Given the description of an element on the screen output the (x, y) to click on. 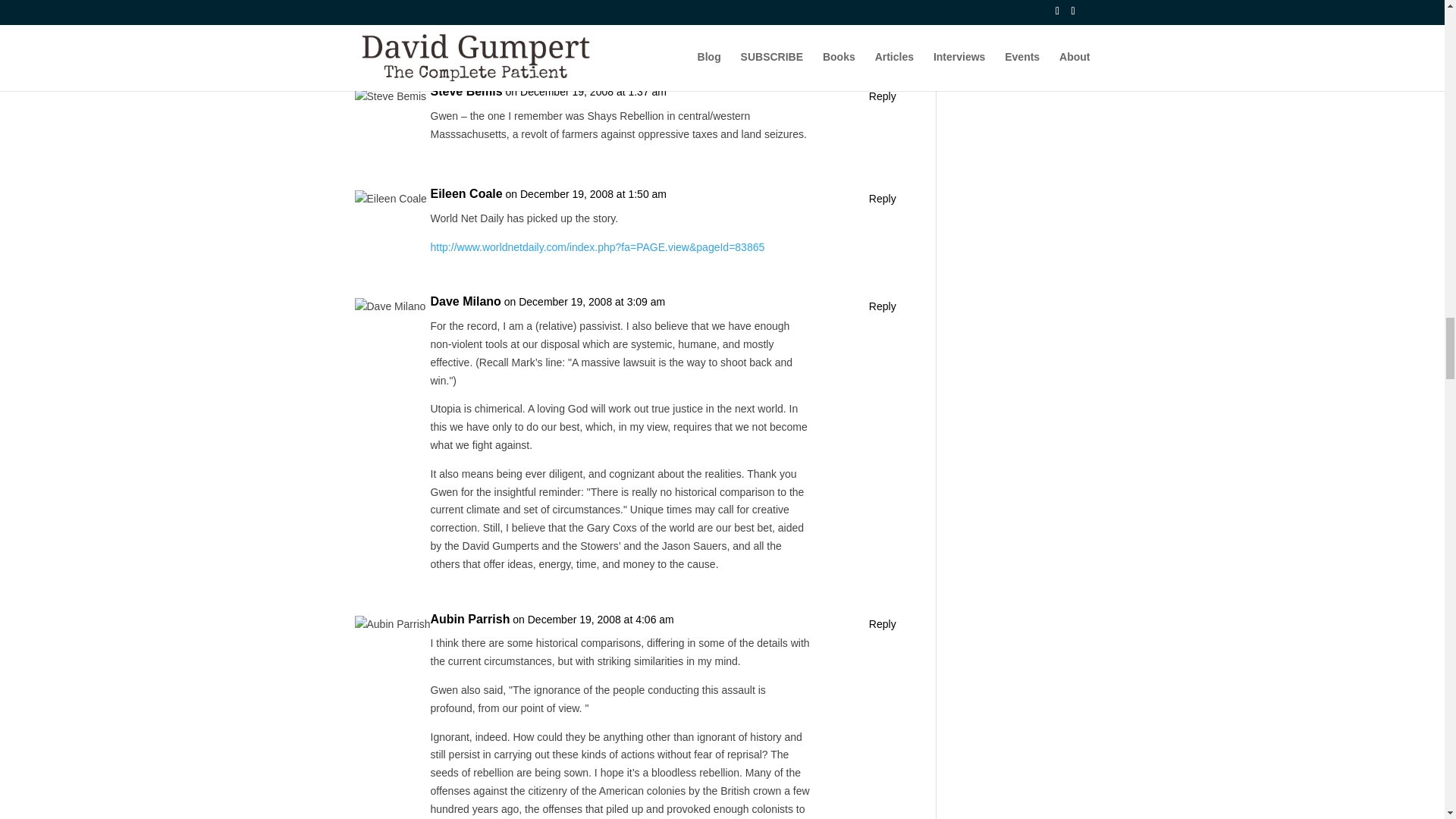
Reply (882, 624)
Reply (882, 96)
Reply (882, 307)
Reply (882, 199)
